Given the description of an element on the screen output the (x, y) to click on. 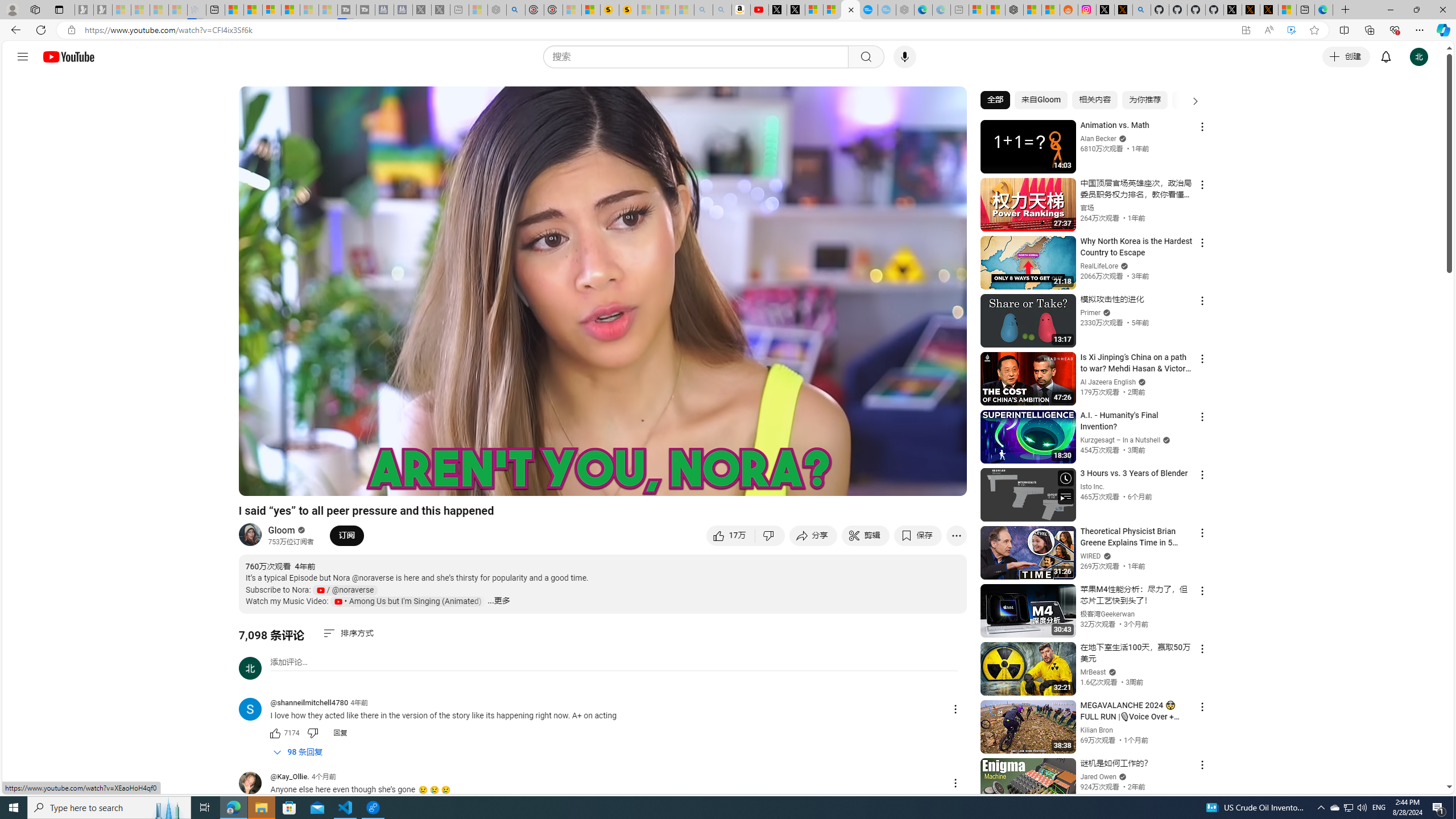
Nordace - Summer Adventures 2024 - Sleeping (497, 9)
X - Sleeping (440, 9)
@Kay_Ollie. (254, 783)
X (795, 9)
Overview (271, 9)
poe - Search (515, 9)
Opinion: Op-Ed and Commentary - USA TODAY (868, 9)
YouTube Channel Link: Among Us but I'm Singing (Animated) (408, 601)
Browser essentials (1394, 29)
